Given the description of an element on the screen output the (x, y) to click on. 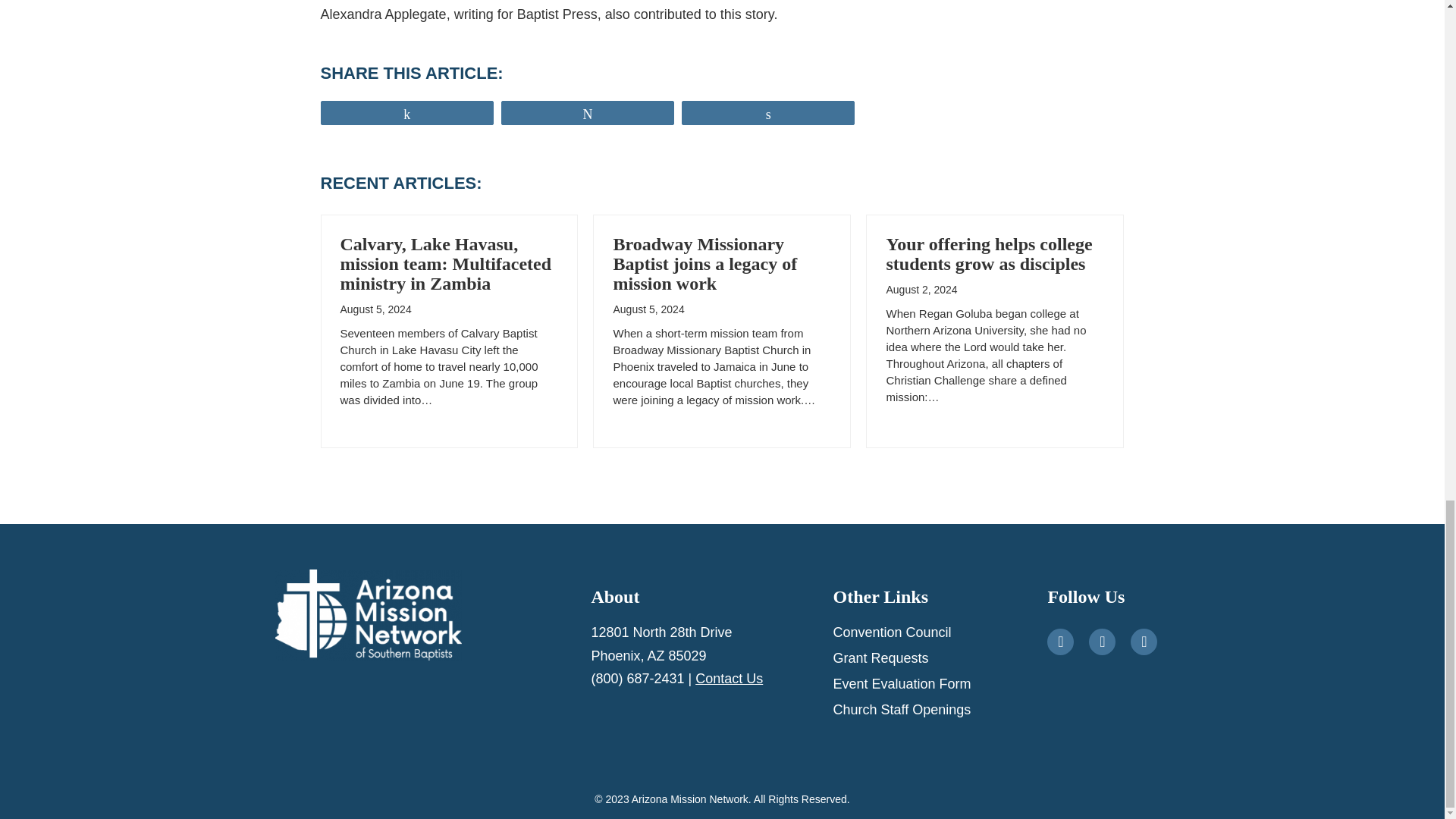
Your offering helps college students grow as disciples (988, 253)
Broadway Missionary Baptist joins a legacy of mission work (704, 263)
Arizona Mission Network logo White (368, 614)
